Given the description of an element on the screen output the (x, y) to click on. 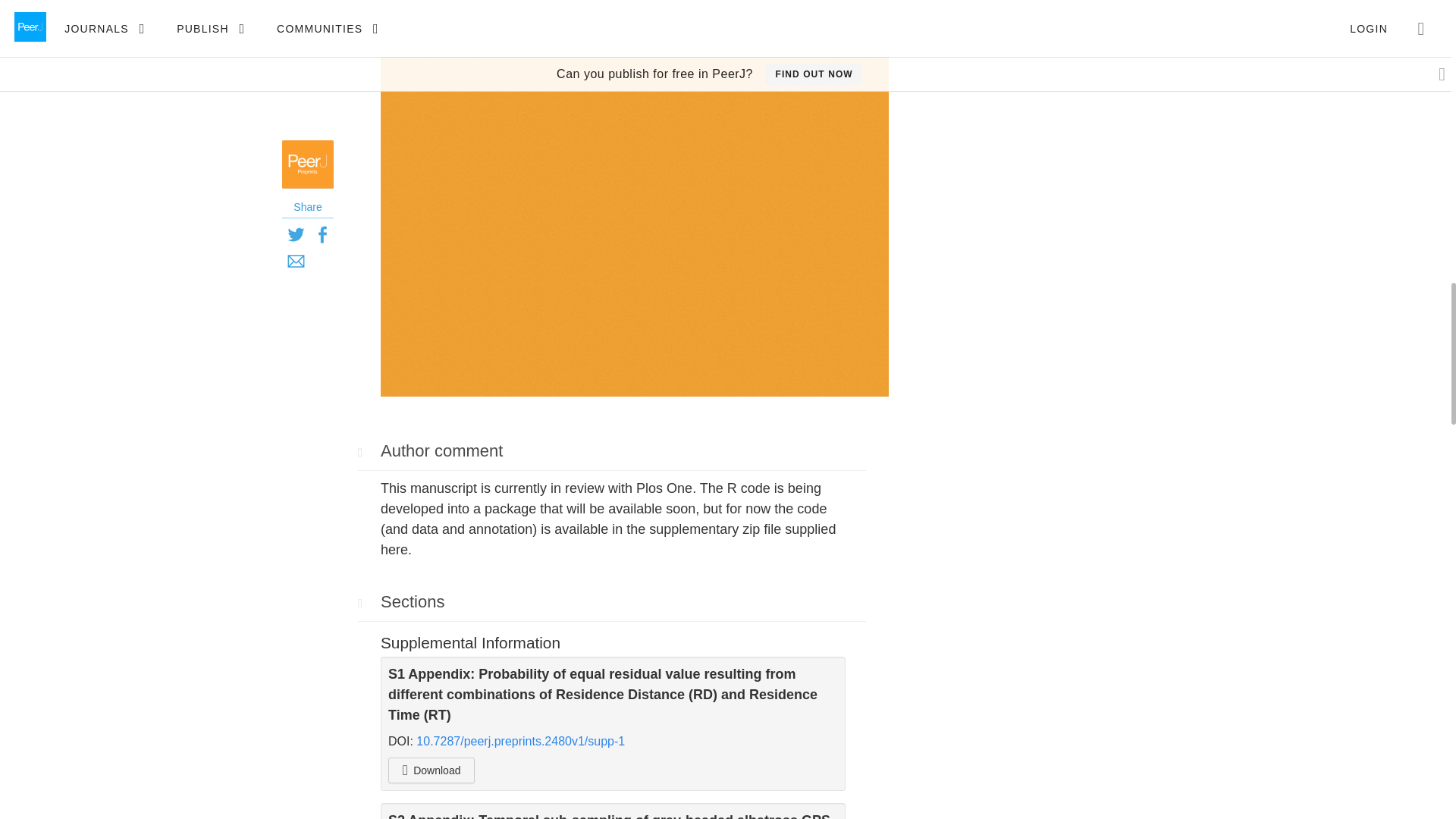
  Download (431, 769)
